Given the description of an element on the screen output the (x, y) to click on. 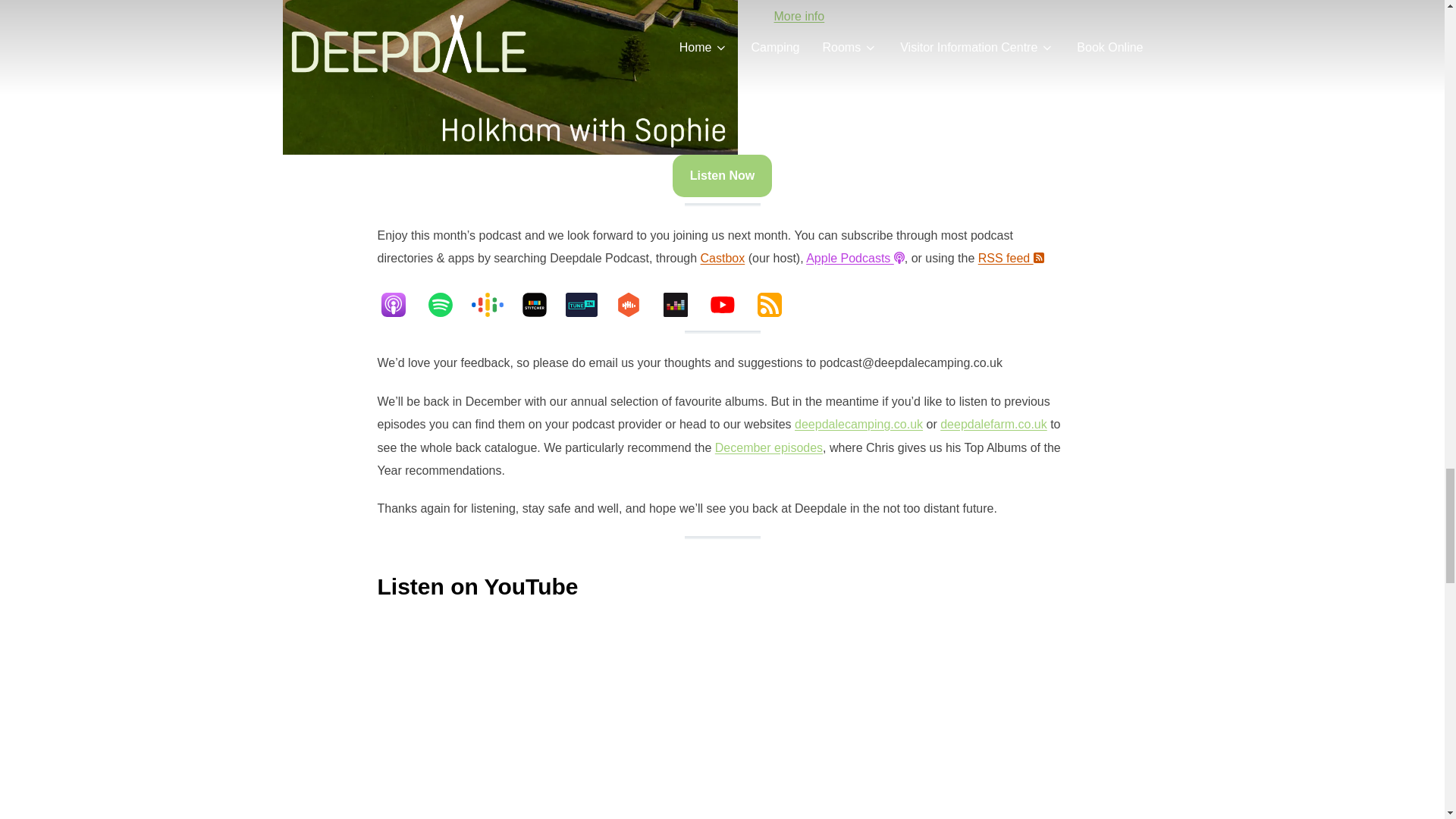
Spotify (448, 304)
Google-Podcasts (494, 304)
Stitcher (542, 304)
Apple-Podcasts (401, 304)
TuneIn (589, 304)
